Given the description of an element on the screen output the (x, y) to click on. 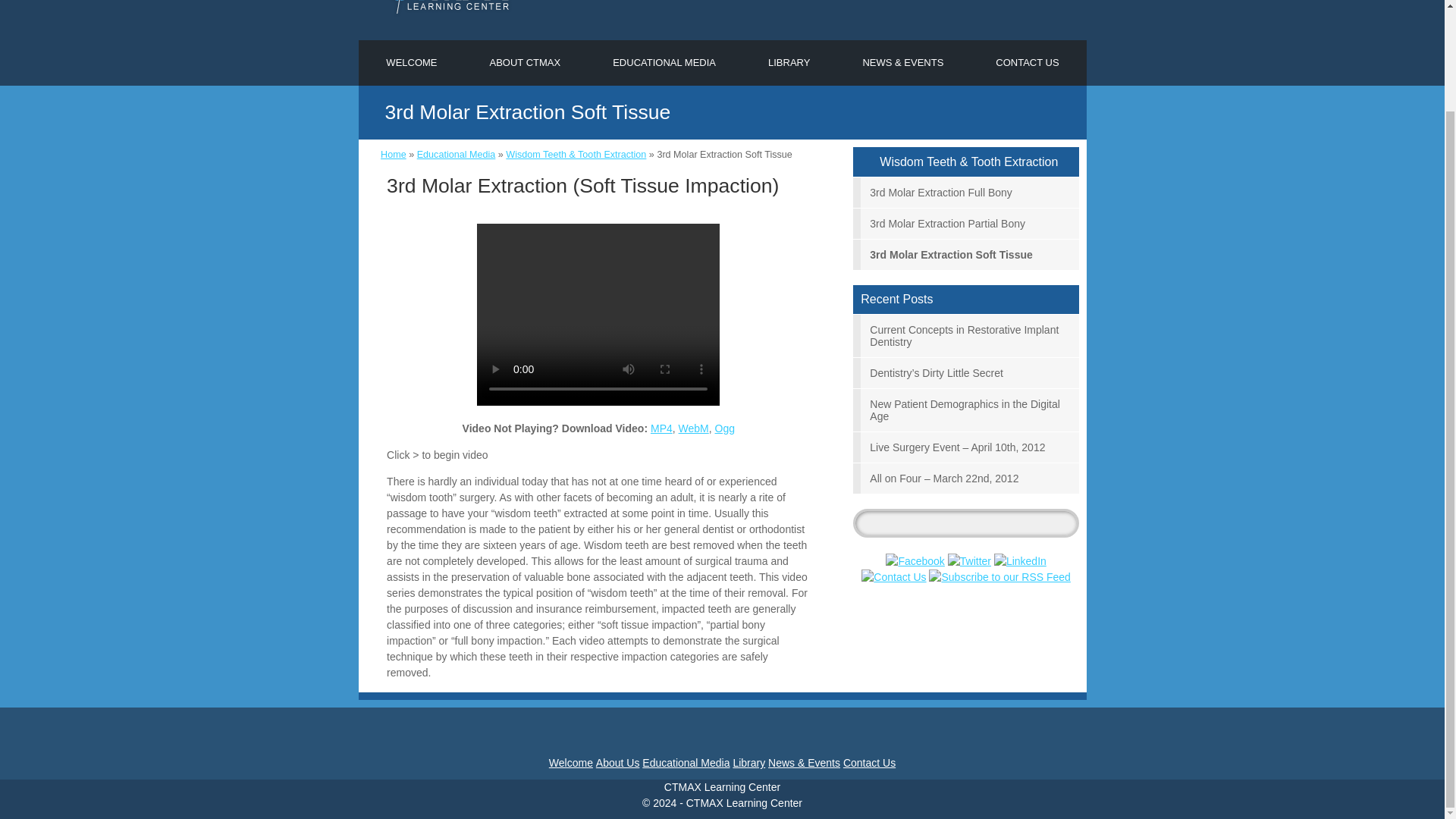
Subscribe to our RSS Feed (999, 577)
Facebook (914, 561)
Twitter (969, 561)
LinkedIn (1020, 561)
EDUCATIONAL MEDIA (663, 62)
MP4 (661, 428)
WELCOME (411, 62)
Home (393, 154)
Current Concepts in Restorative Implant Dentistry (965, 335)
3rd Molar Extraction Soft Tissue (965, 254)
CONTACT US (1026, 62)
Contact Us (893, 577)
ABOUT CTMAX (525, 62)
Ogg (724, 428)
WebM (693, 428)
